Given the description of an element on the screen output the (x, y) to click on. 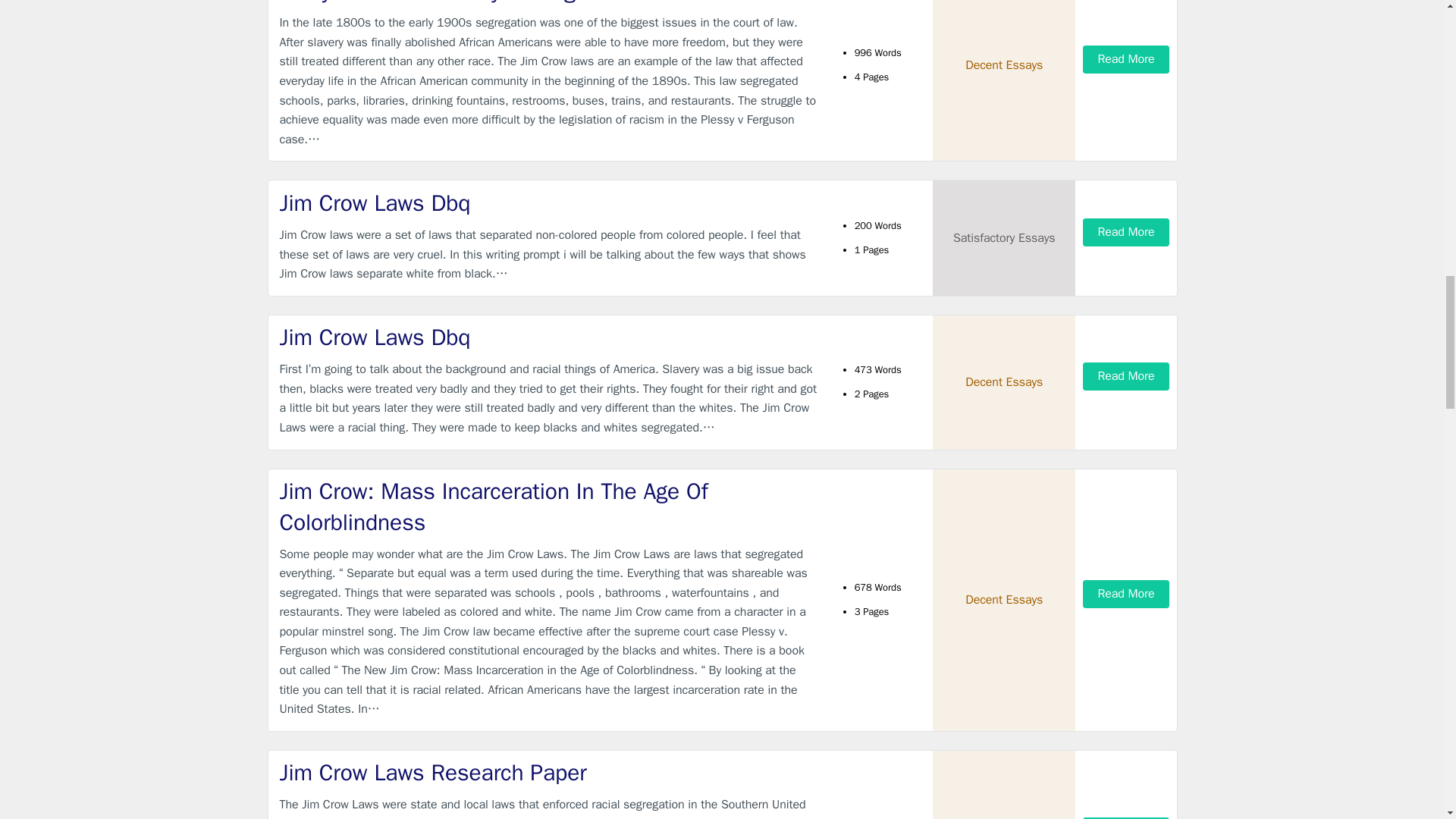
Jim Crow: Mass Incarceration In The Age Of Colorblindness (548, 506)
Jim Crow Laws Research Paper (548, 772)
Read More (1126, 818)
Analysis Of The Plessy V. Ferguson Case (548, 3)
Read More (1126, 59)
Read More (1126, 593)
Read More (1126, 232)
Read More (1126, 376)
Jim Crow Laws Dbq (548, 203)
Jim Crow Laws Dbq (548, 337)
